Given the description of an element on the screen output the (x, y) to click on. 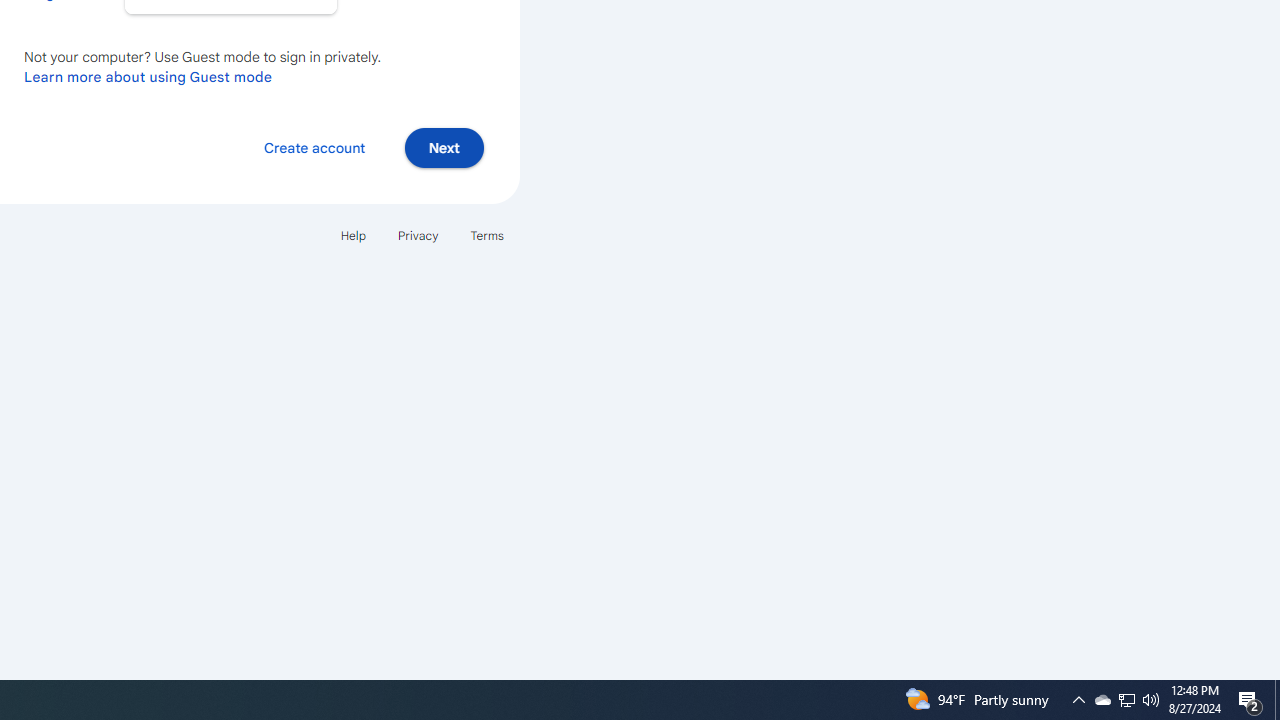
Learn more about using Guest mode (148, 76)
Create account (314, 146)
Privacy (417, 234)
Next (443, 146)
Help (352, 234)
